Given the description of an element on the screen output the (x, y) to click on. 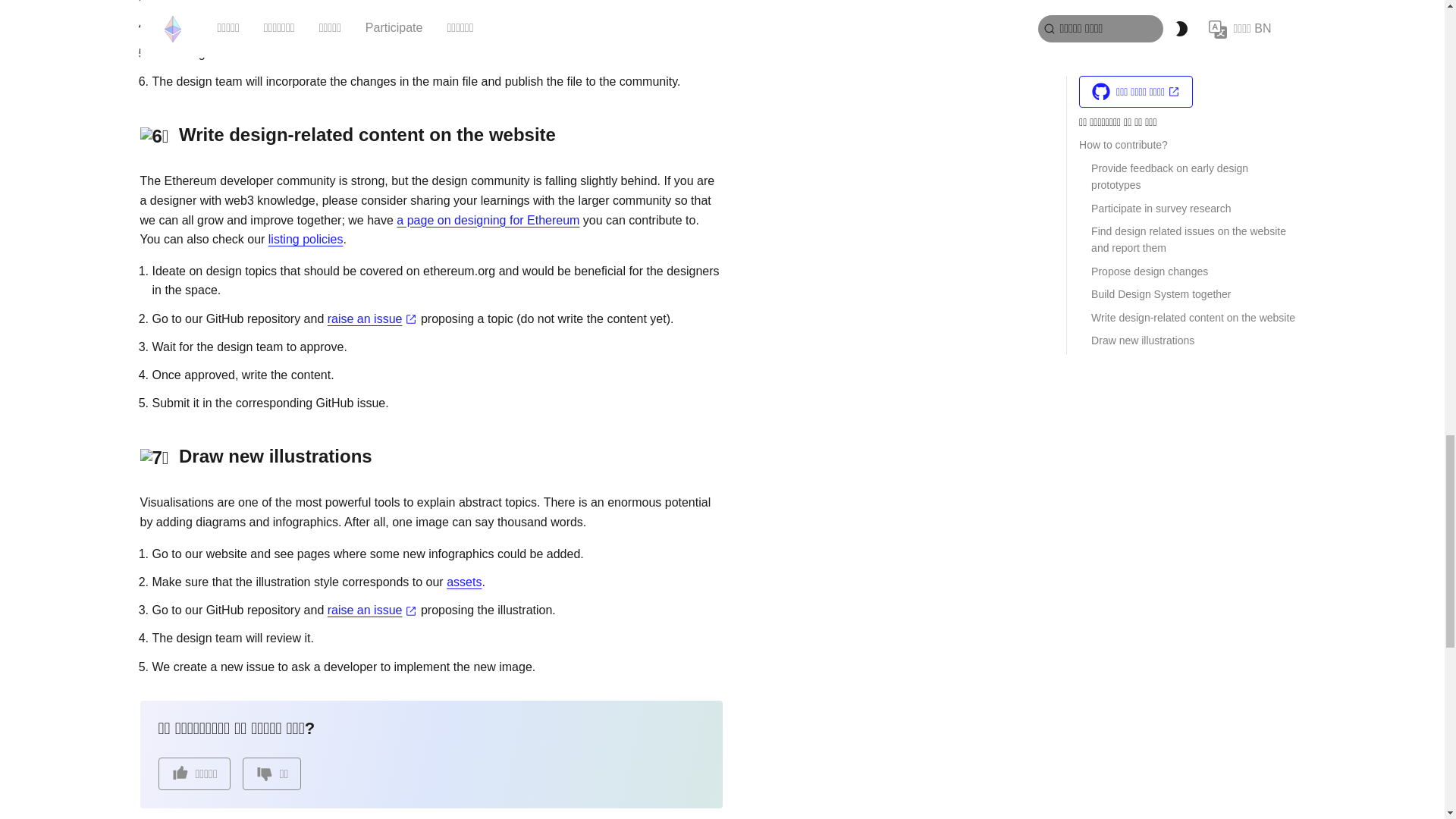
listing policies (305, 238)
assets (463, 581)
a page on designing for Ethereum (487, 219)
